Given the description of an element on the screen output the (x, y) to click on. 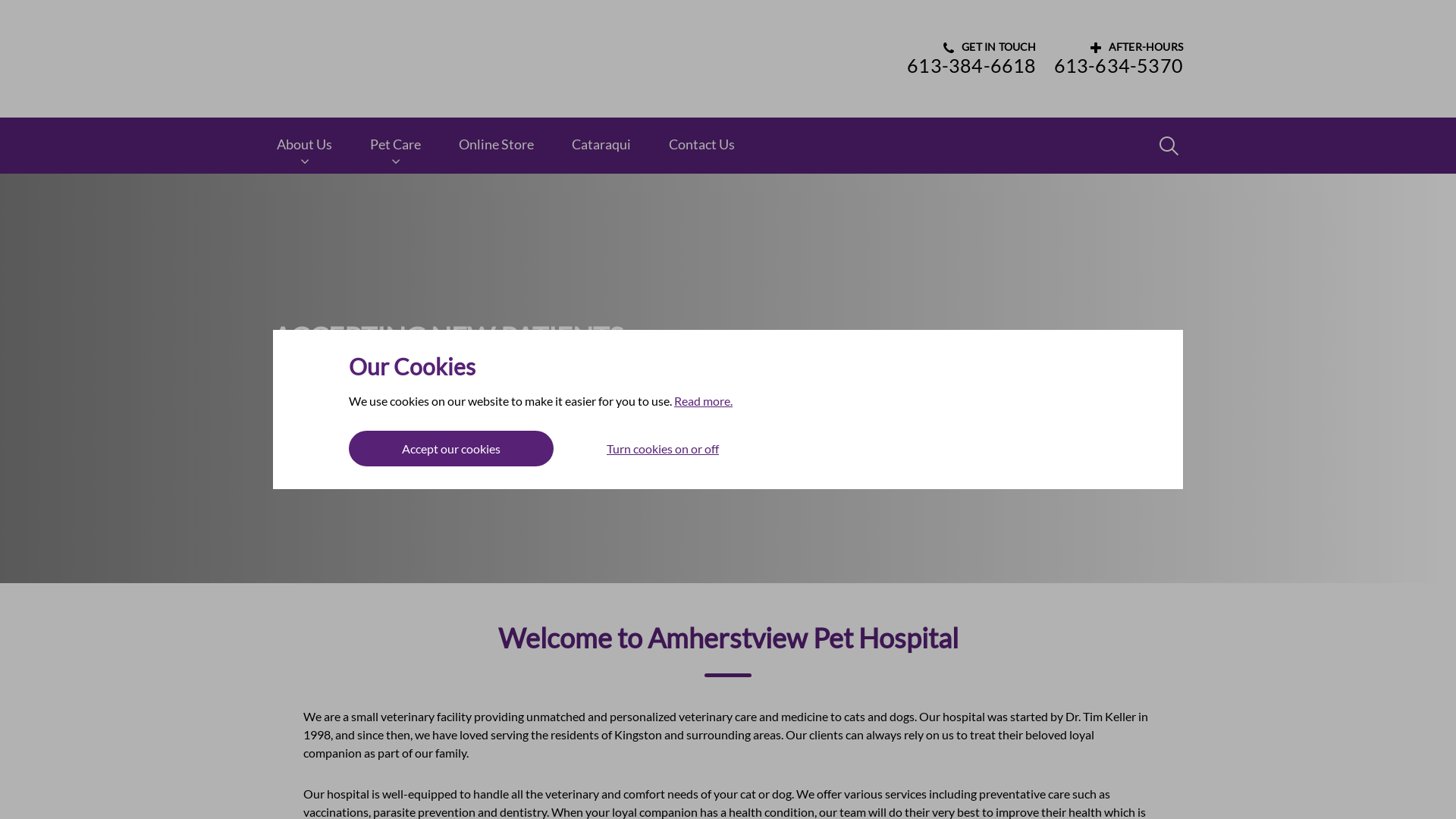
IvcPractices.HeaderNav.Search.Toggle.Button.Aria Element type: text (1168, 145)
About Us Element type: text (304, 145)
Cataraqui Element type: text (600, 144)
Turn cookies on or off Element type: text (662, 448)
Amherstview Pet Hospital's homepage Element type: text (356, 58)
Pet Care Element type: text (395, 145)
Accept our cookies Element type: text (450, 448)
MEET THE TEAM Element type: text (440, 421)
Online Store Element type: text (495, 144)
Contact Us Element type: text (701, 144)
Read more. Element type: text (703, 400)
CONTACT US Element type: text (322, 421)
